Given the description of an element on the screen output the (x, y) to click on. 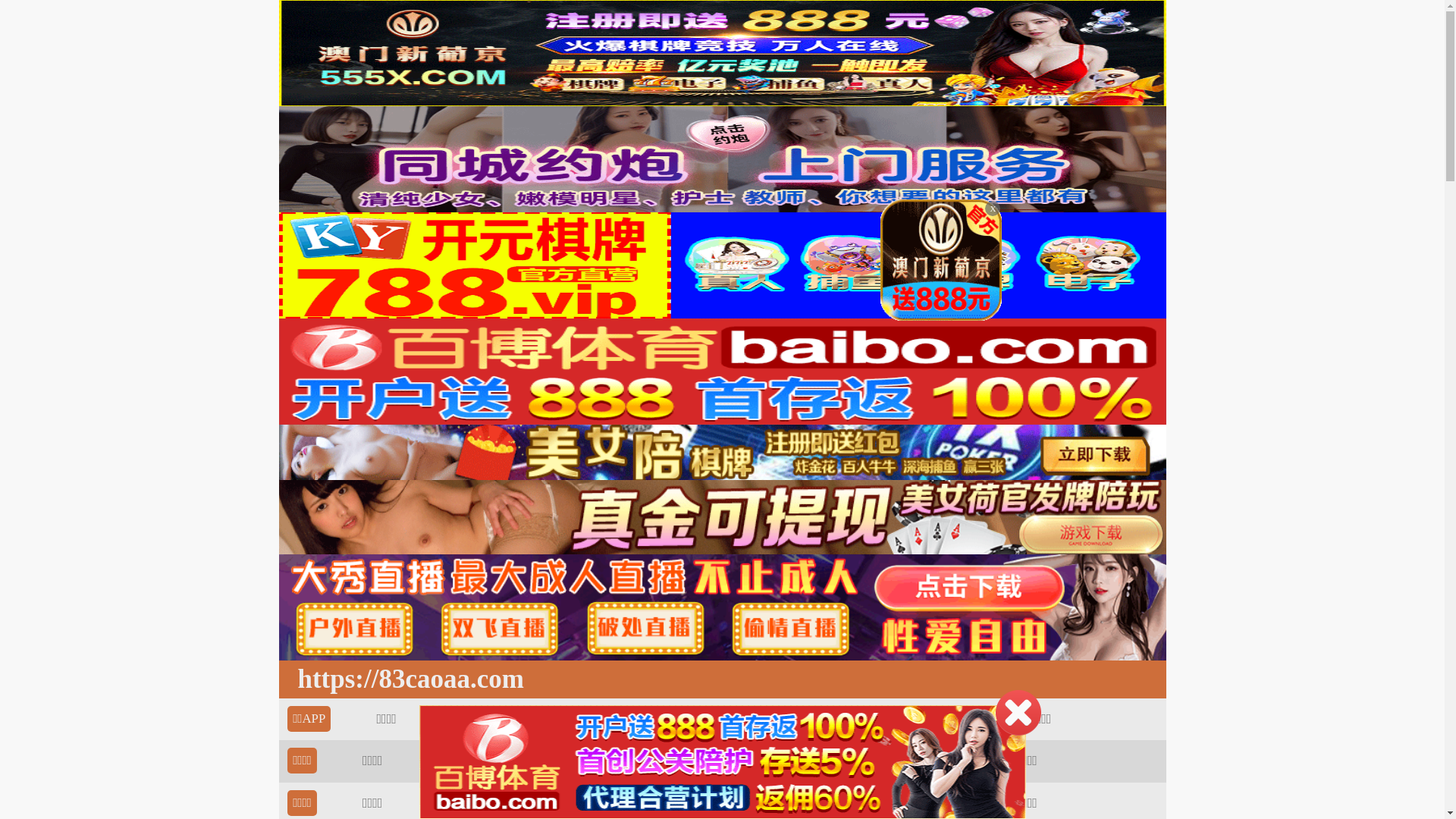
https://83caoaa.com Element type: text (406, 679)
